Given the description of an element on the screen output the (x, y) to click on. 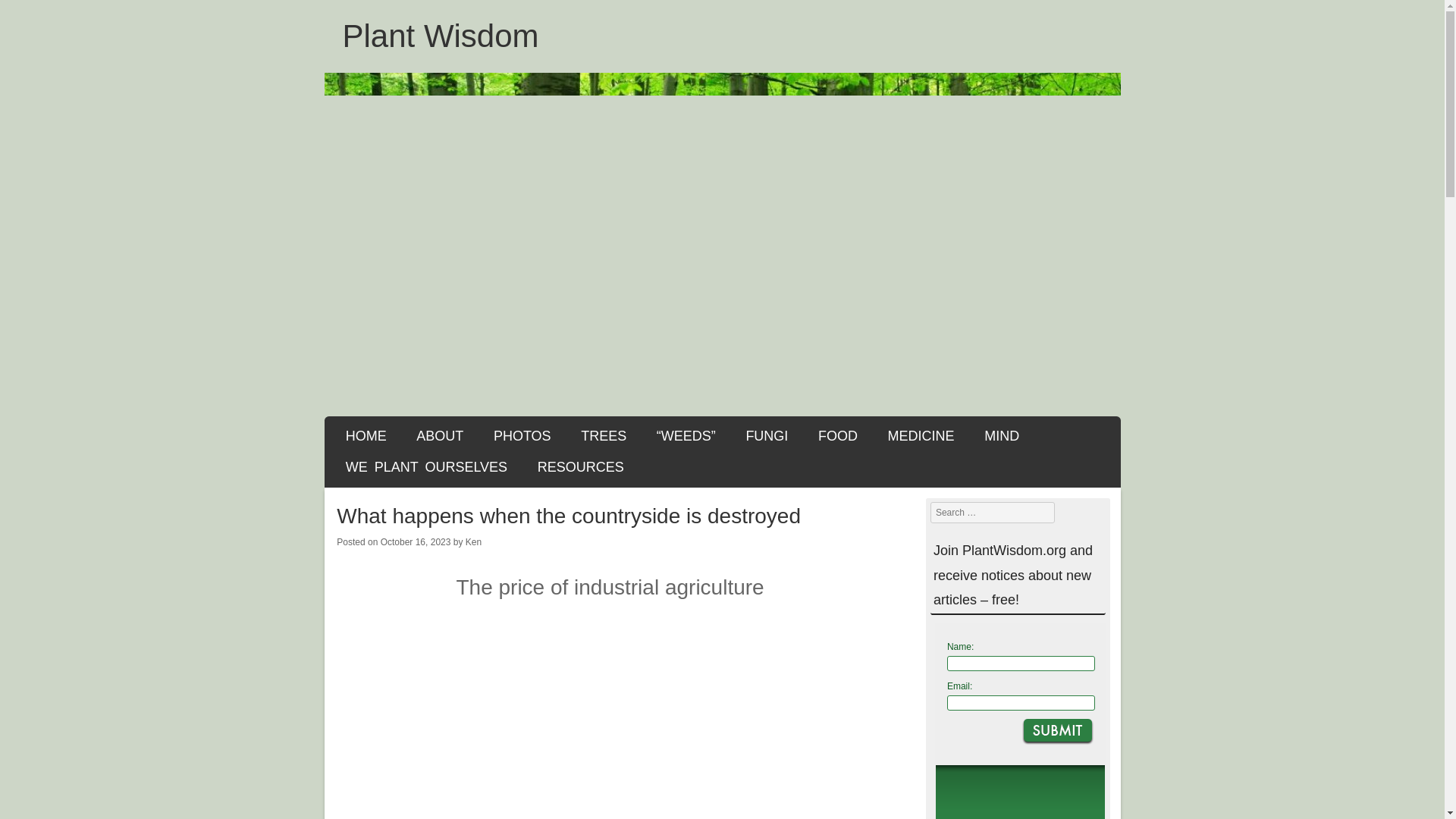
Plant Wisdom (440, 36)
RESOURCES (580, 467)
HOME (365, 435)
October 16, 2023 (415, 542)
What happens when the countryside is destroyed (609, 719)
SKIP TO CONTENT (397, 431)
Plant Wisdom (440, 36)
WE PLANT OURSELVES (426, 467)
MEDICINE (920, 435)
